Given the description of an element on the screen output the (x, y) to click on. 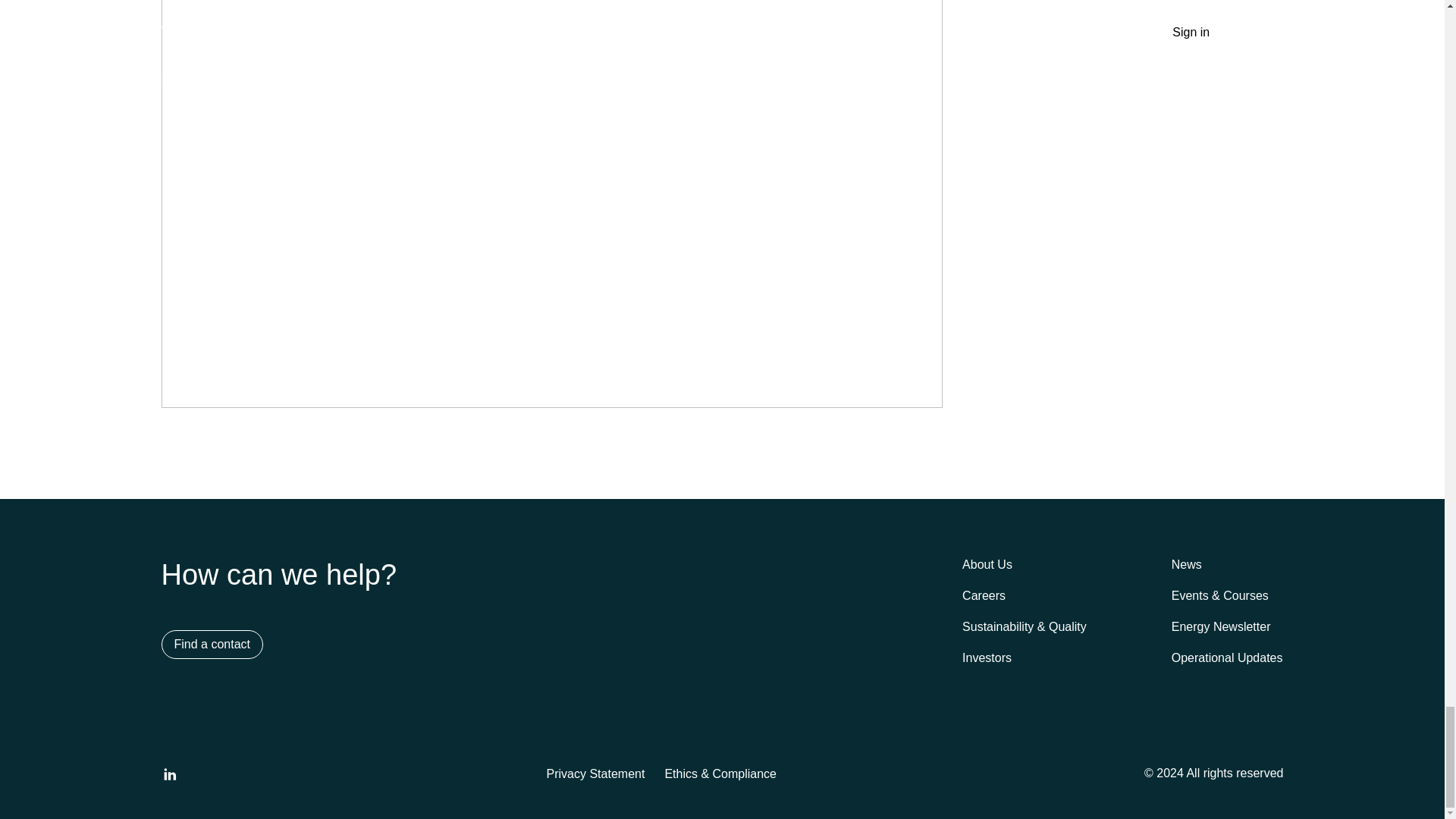
Careers  (983, 596)
Find a contact (211, 644)
Find a contact (211, 644)
News (1186, 565)
Energy Newsletter (1220, 627)
Operational Updates (1227, 658)
News (1186, 565)
Energy Newsletter (1220, 627)
Careers (983, 596)
Investors (985, 658)
